Given the description of an element on the screen output the (x, y) to click on. 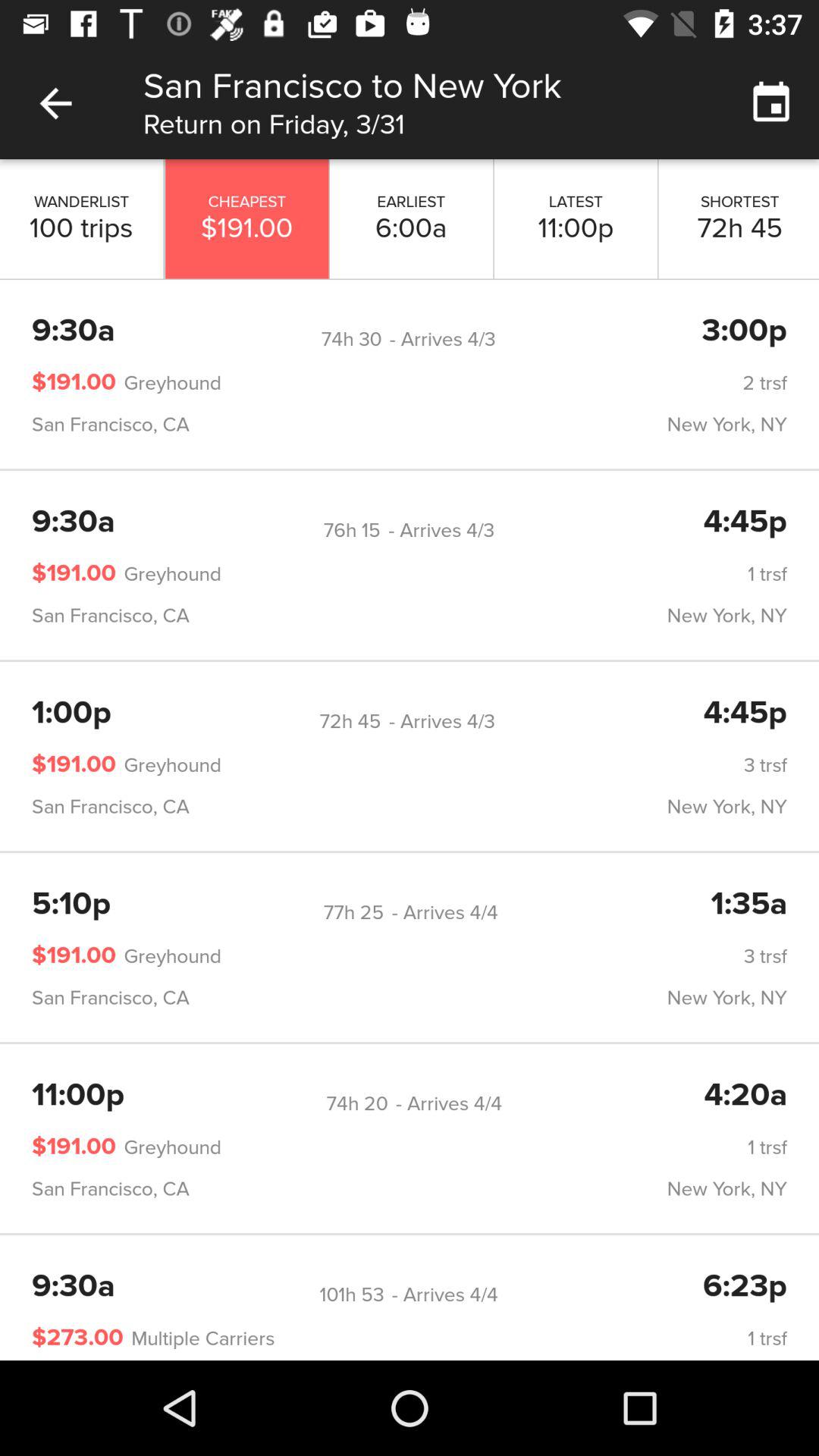
press the icon to the right of the 9:30a item (351, 530)
